Given the description of an element on the screen output the (x, y) to click on. 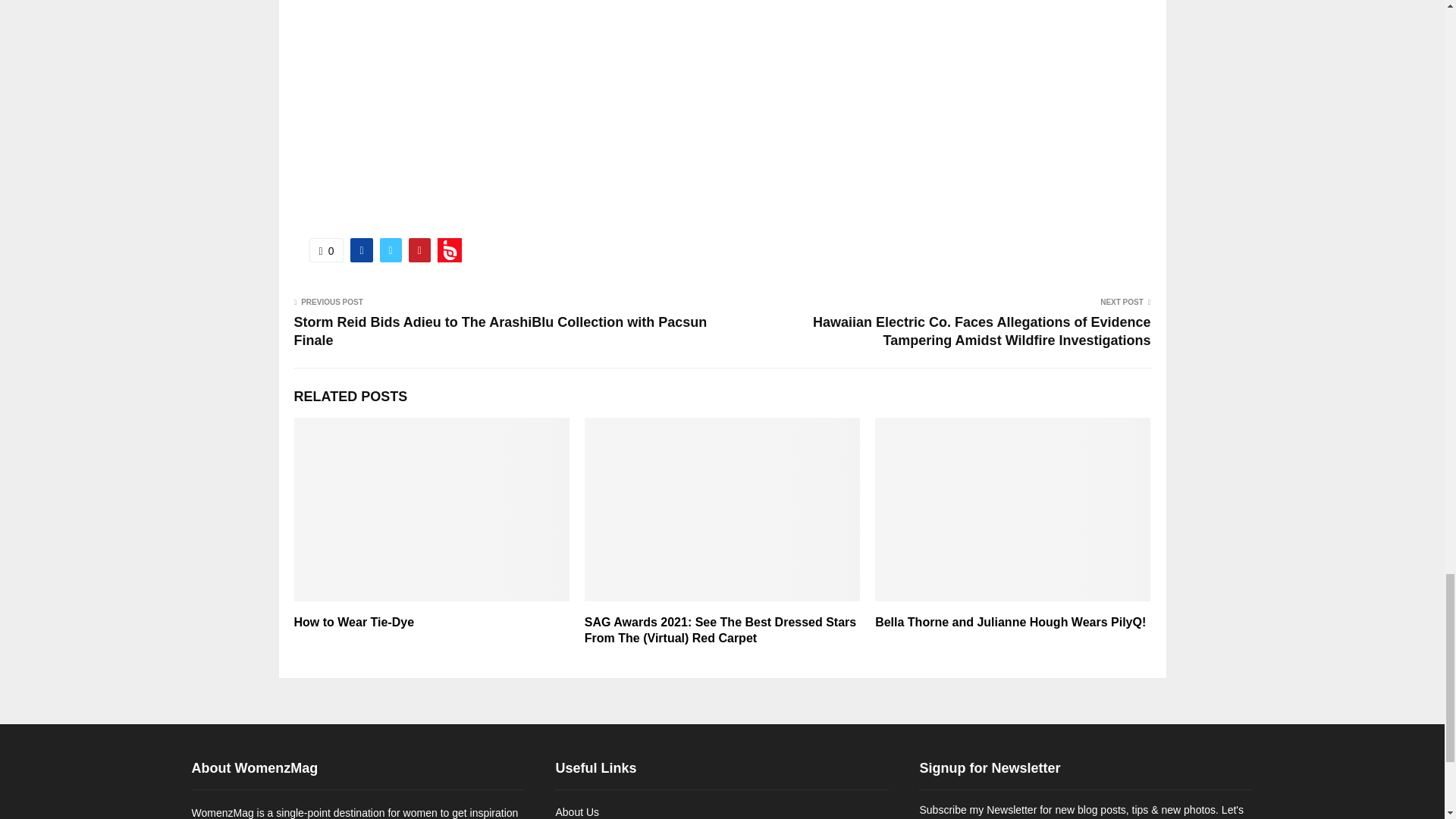
0 (325, 250)
Like (325, 250)
How to Wear Tie-Dye (354, 621)
